Given the description of an element on the screen output the (x, y) to click on. 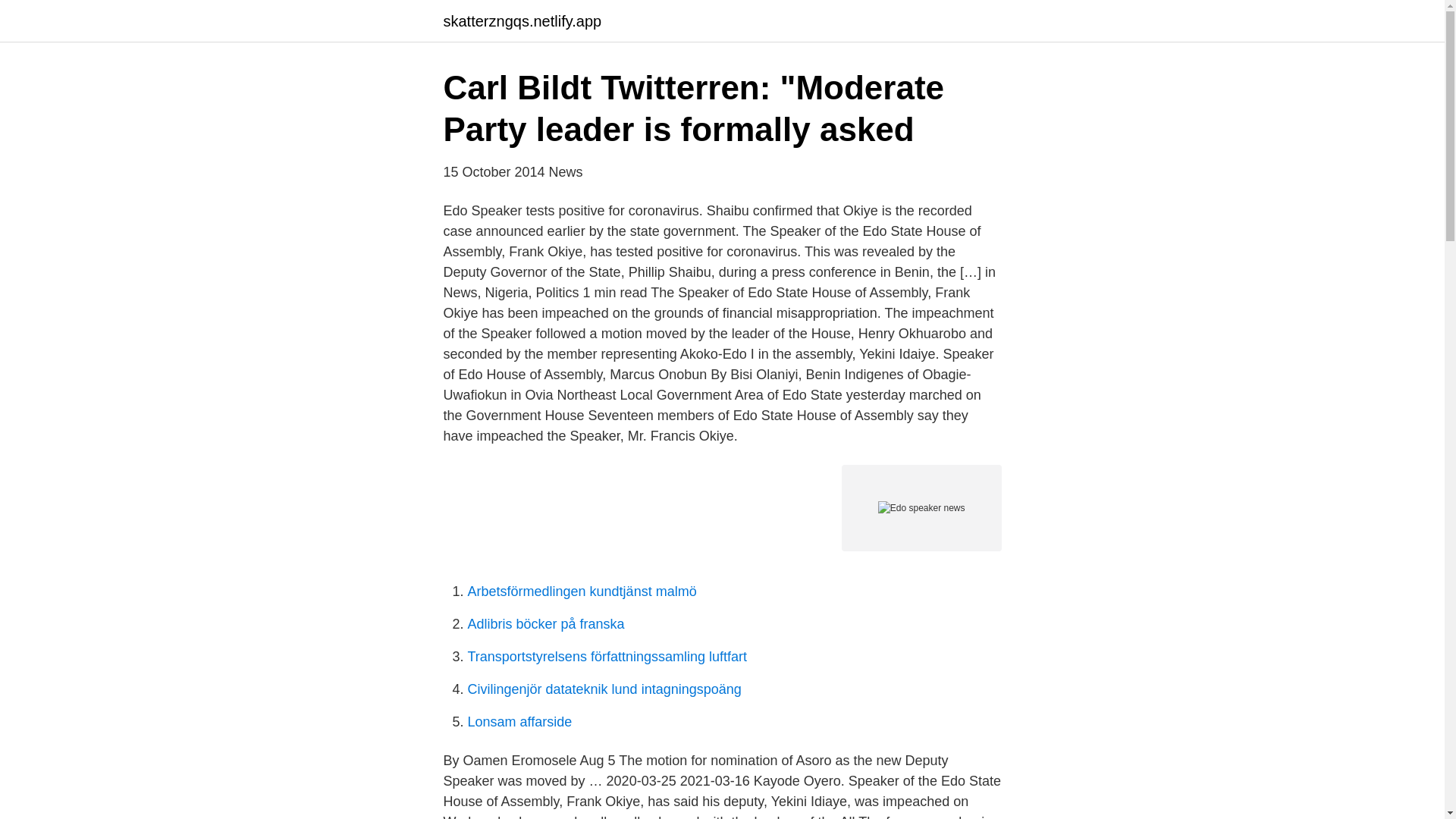
skatterzngqs.netlify.app (521, 20)
Lonsam affarside (519, 721)
